Given the description of an element on the screen output the (x, y) to click on. 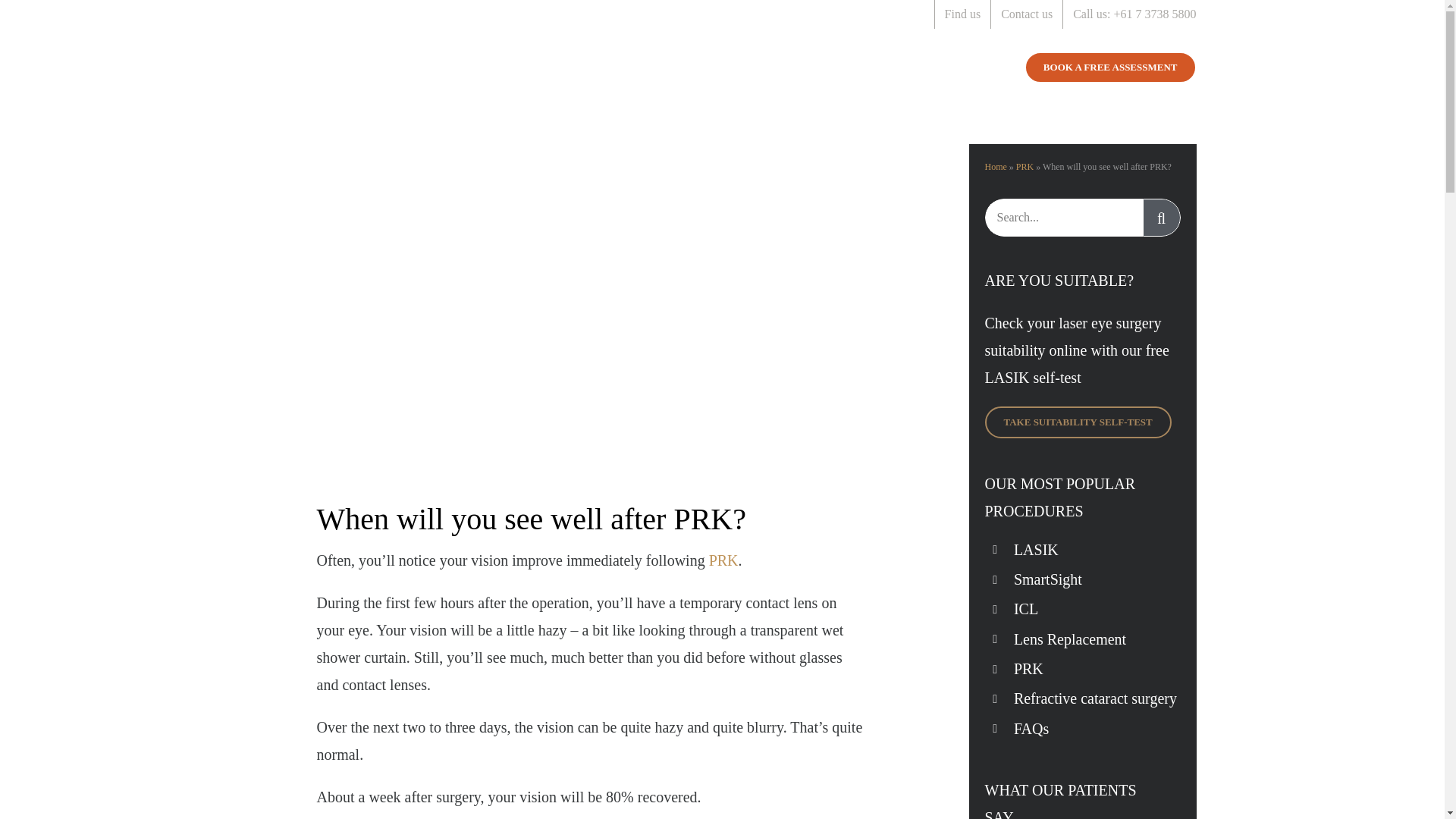
BOOK A FREE ASSESSMENT (1110, 66)
Contact us (1026, 14)
ABOUT US (978, 66)
COSTS (910, 66)
PRK (723, 560)
Find us (962, 14)
